Given the description of an element on the screen output the (x, y) to click on. 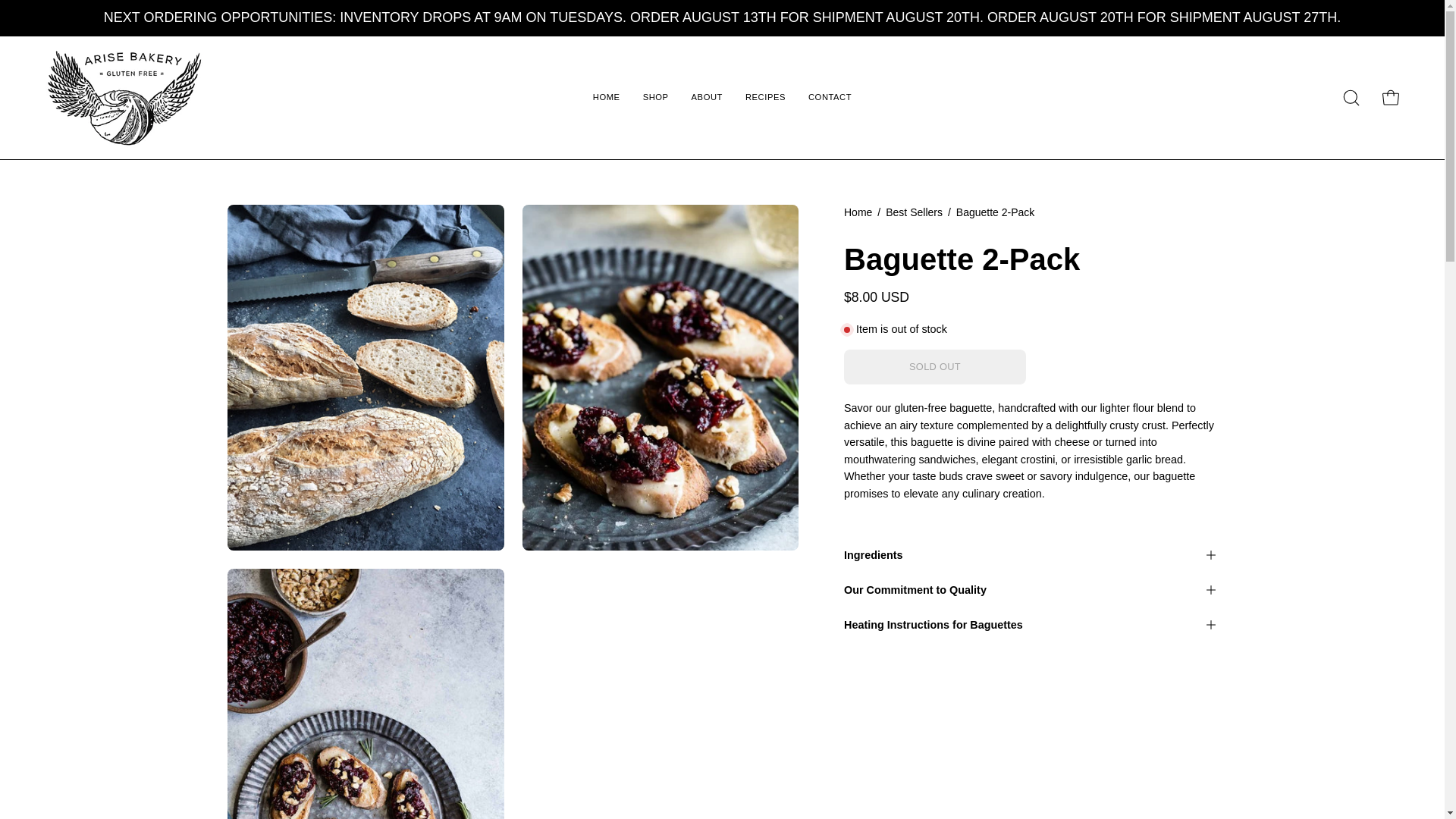
Go back to Home page (858, 212)
Open search bar (1351, 97)
Open image lightbox (365, 693)
OPEN CART (1390, 97)
